Given the description of an element on the screen output the (x, y) to click on. 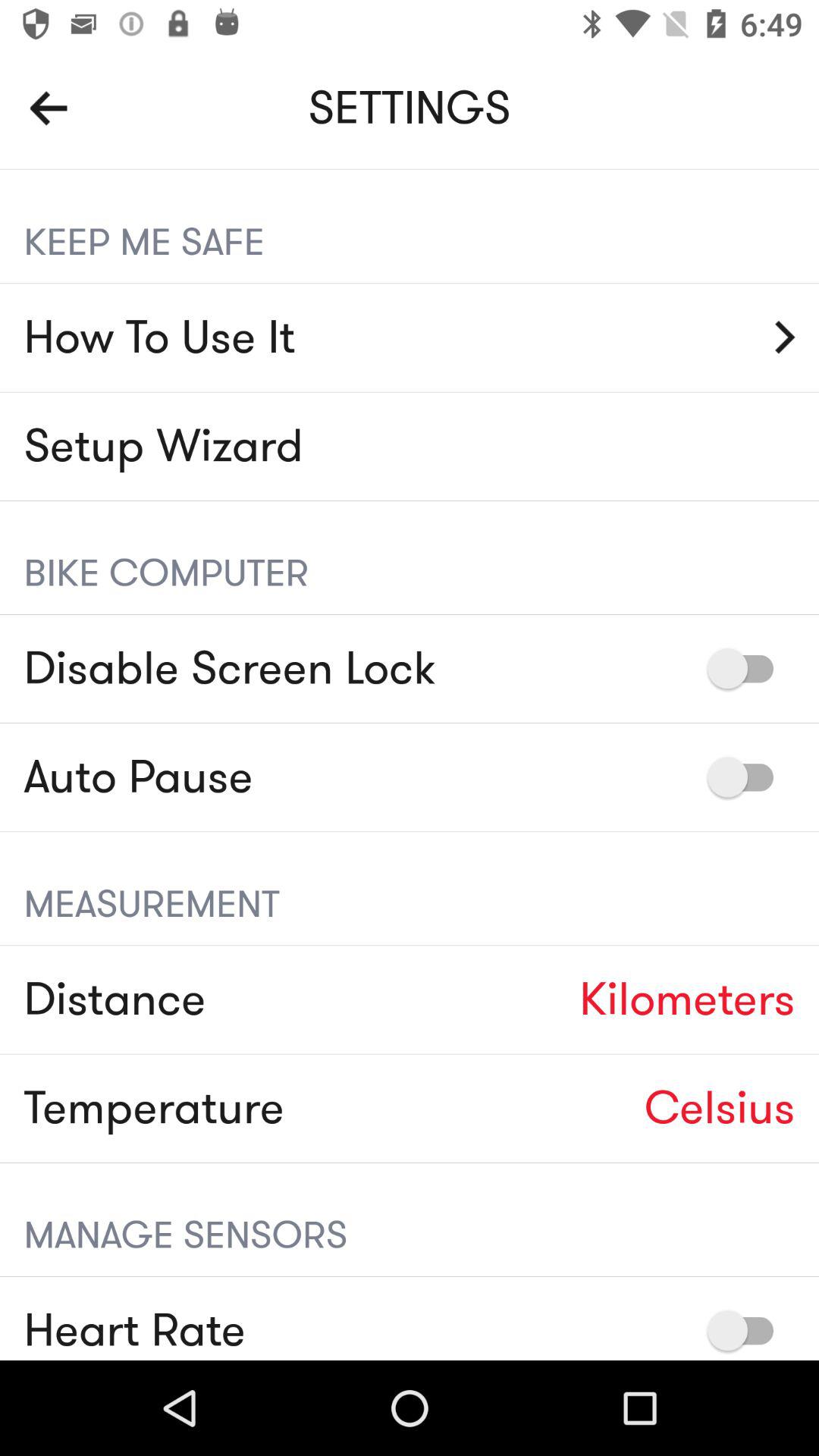
toggle heart-rate sensor (747, 1330)
